Given the description of an element on the screen output the (x, y) to click on. 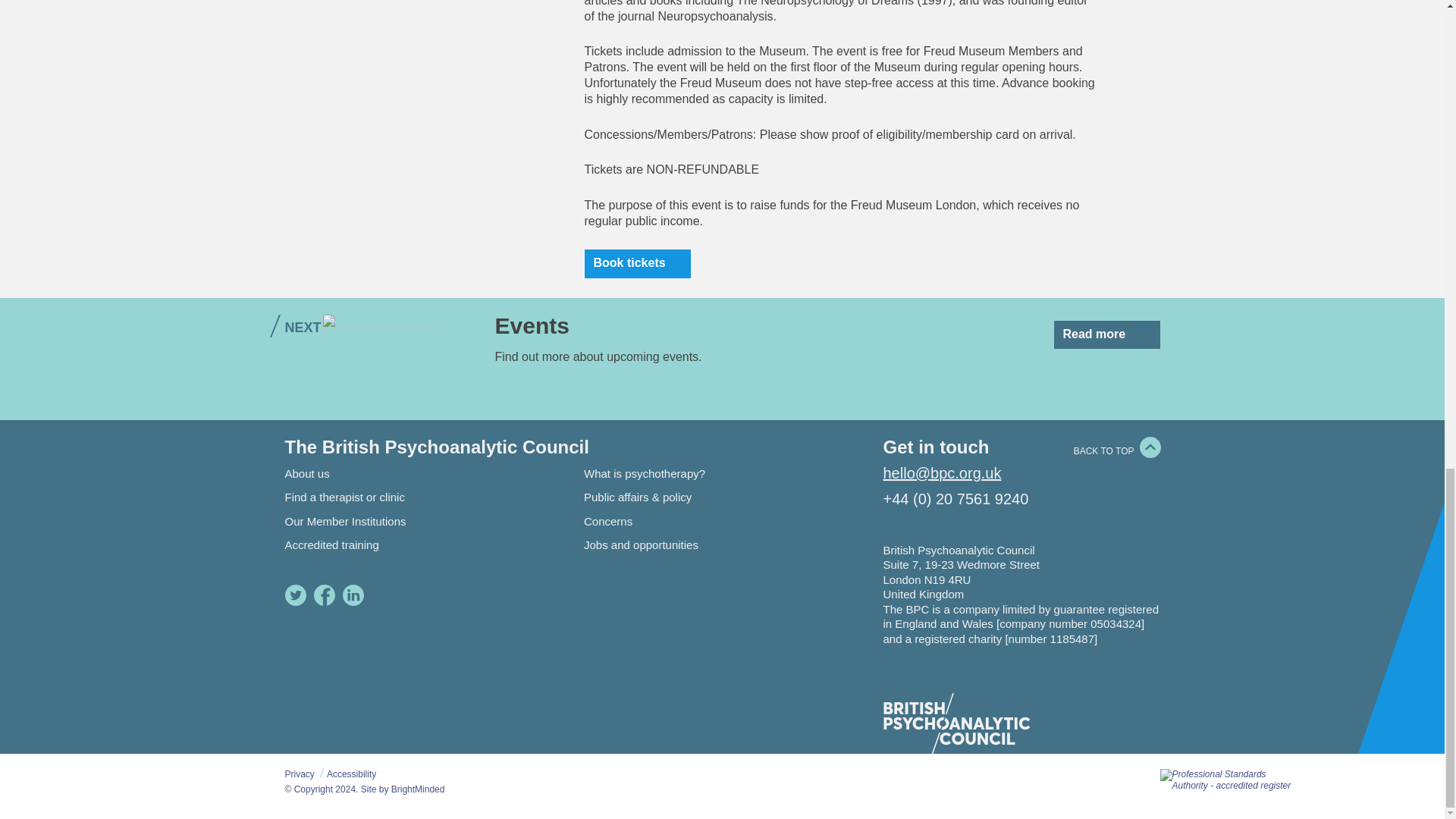
Concerns (607, 521)
About us (307, 472)
What is psychotherapy? (643, 472)
Jobs and opportunities (640, 544)
Privacy (299, 774)
Read more (1107, 335)
Our Member Institutions (345, 521)
Find a therapist or clinic (344, 496)
Accredited training (331, 544)
BACK TO TOP (1104, 450)
